Given the description of an element on the screen output the (x, y) to click on. 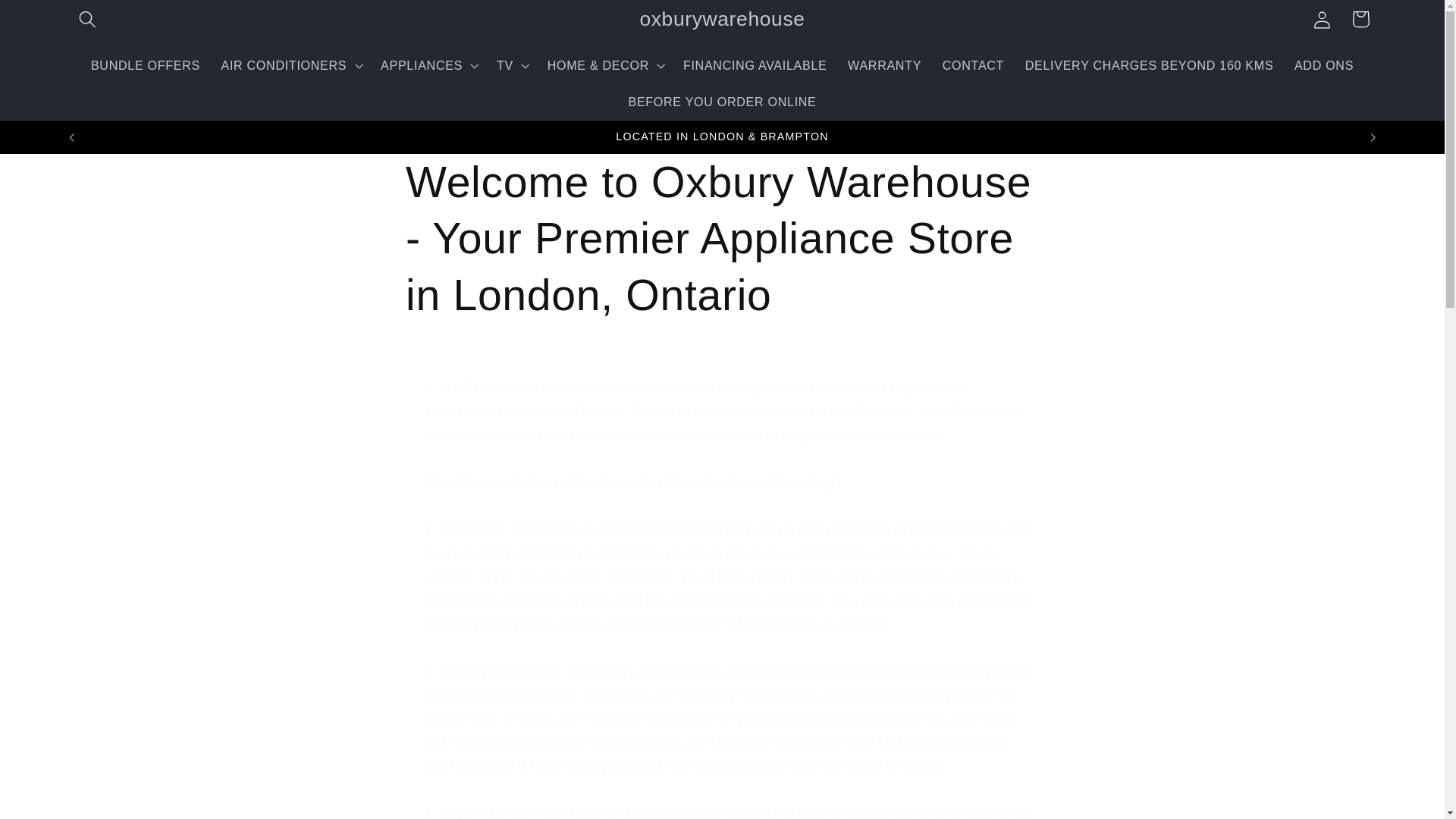
Skip to content (53, 21)
